Given the description of an element on the screen output the (x, y) to click on. 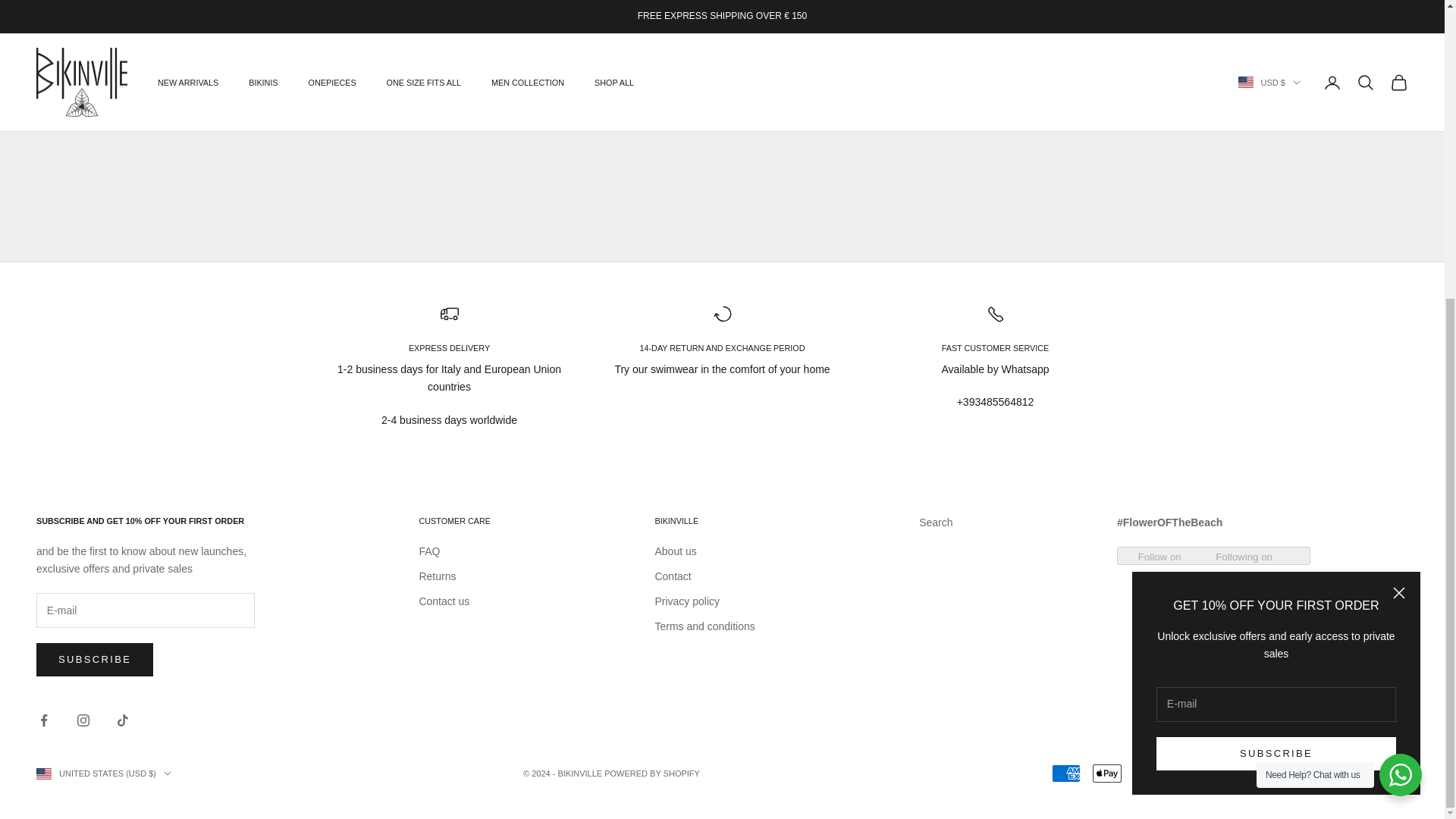
Newsletter popup (1276, 220)
